Given the description of an element on the screen output the (x, y) to click on. 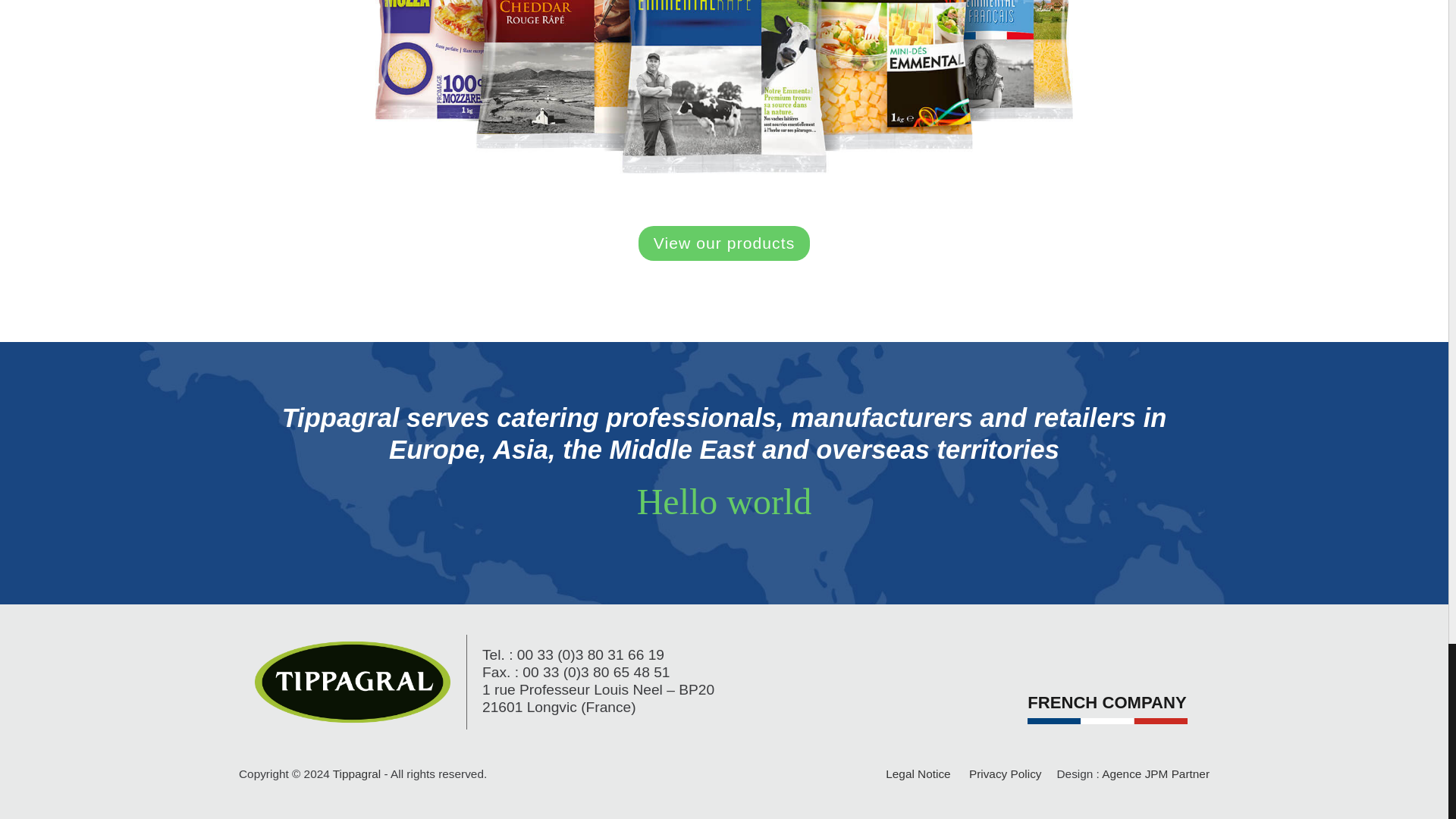
Privacy Policy (1005, 773)
View our products (724, 243)
Agence JPM Partner (1155, 773)
Legal Notice (917, 773)
Tippagral (356, 773)
